Given the description of an element on the screen output the (x, y) to click on. 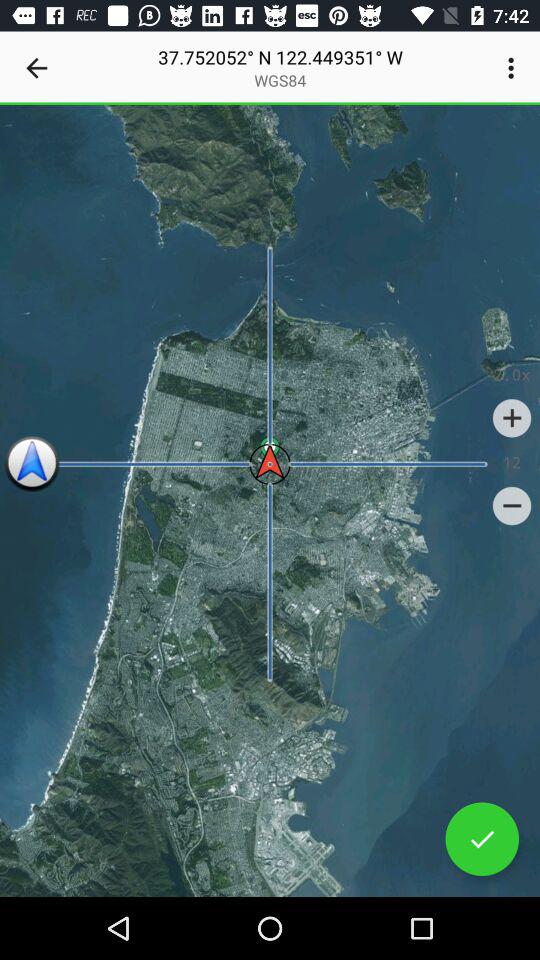
tap the icon below 2.0x icon (512, 418)
